Given the description of an element on the screen output the (x, y) to click on. 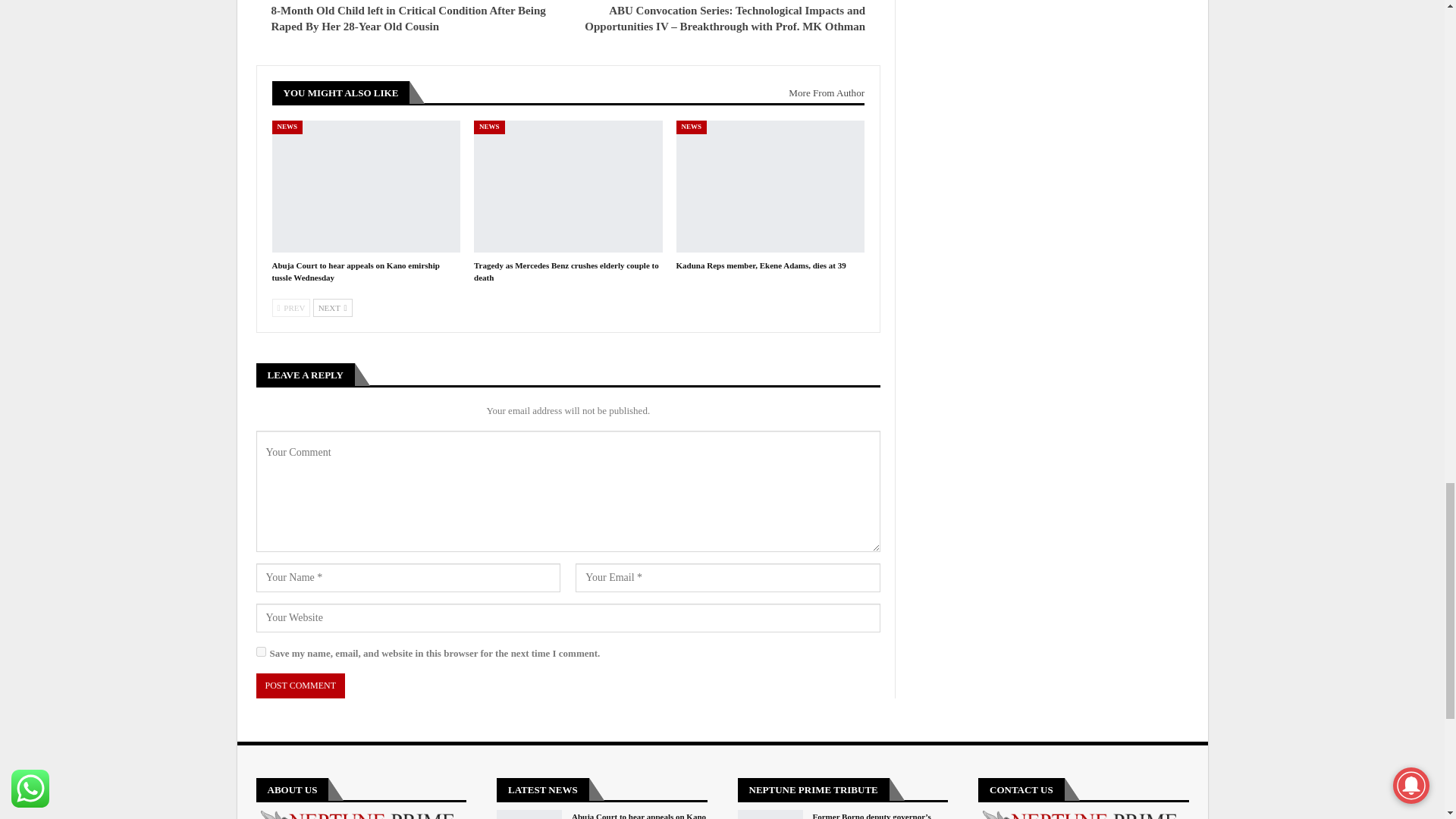
yes (261, 651)
Post Comment (300, 685)
